Given the description of an element on the screen output the (x, y) to click on. 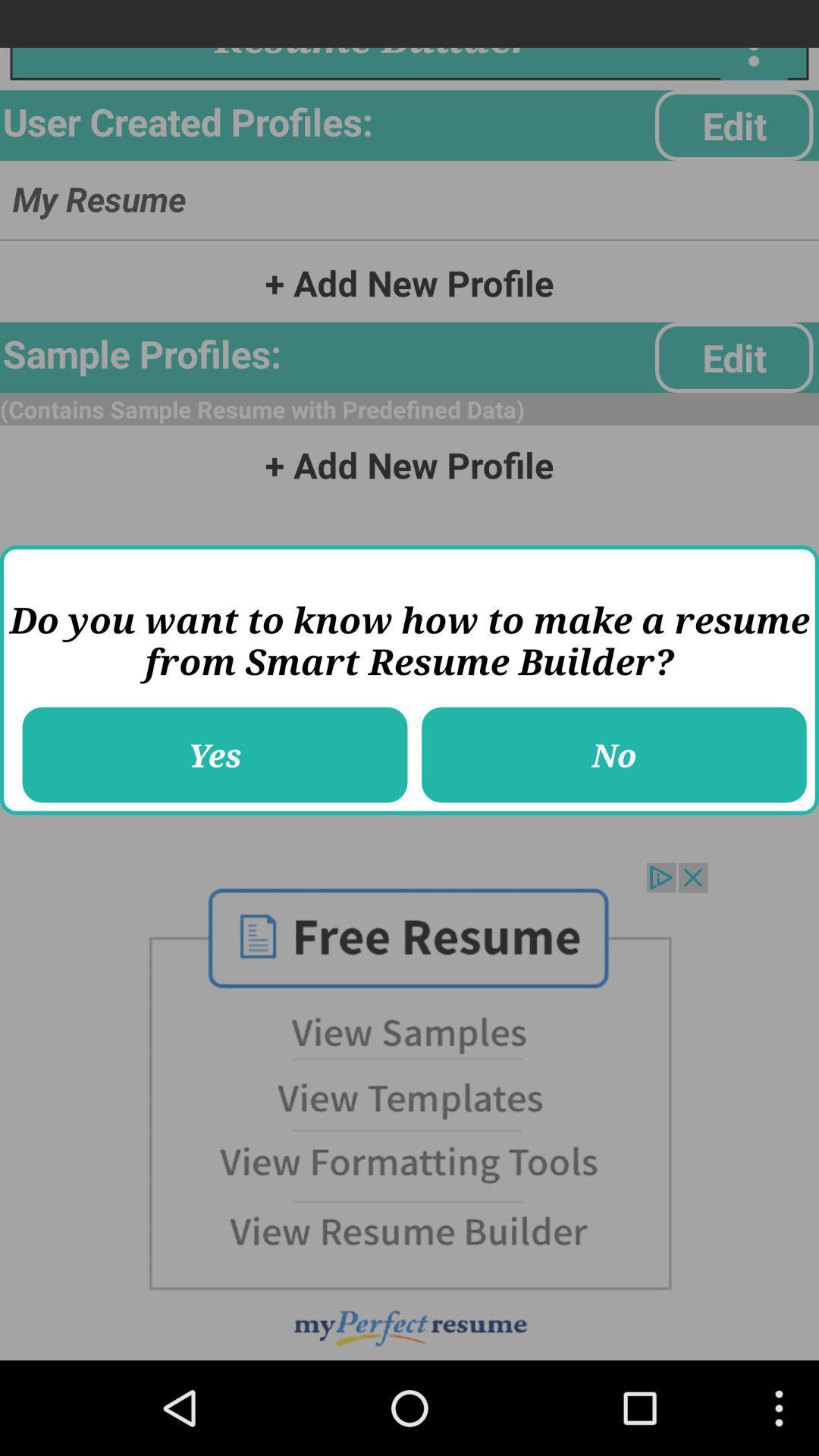
choose the icon next to the yes (613, 754)
